Given the description of an element on the screen output the (x, y) to click on. 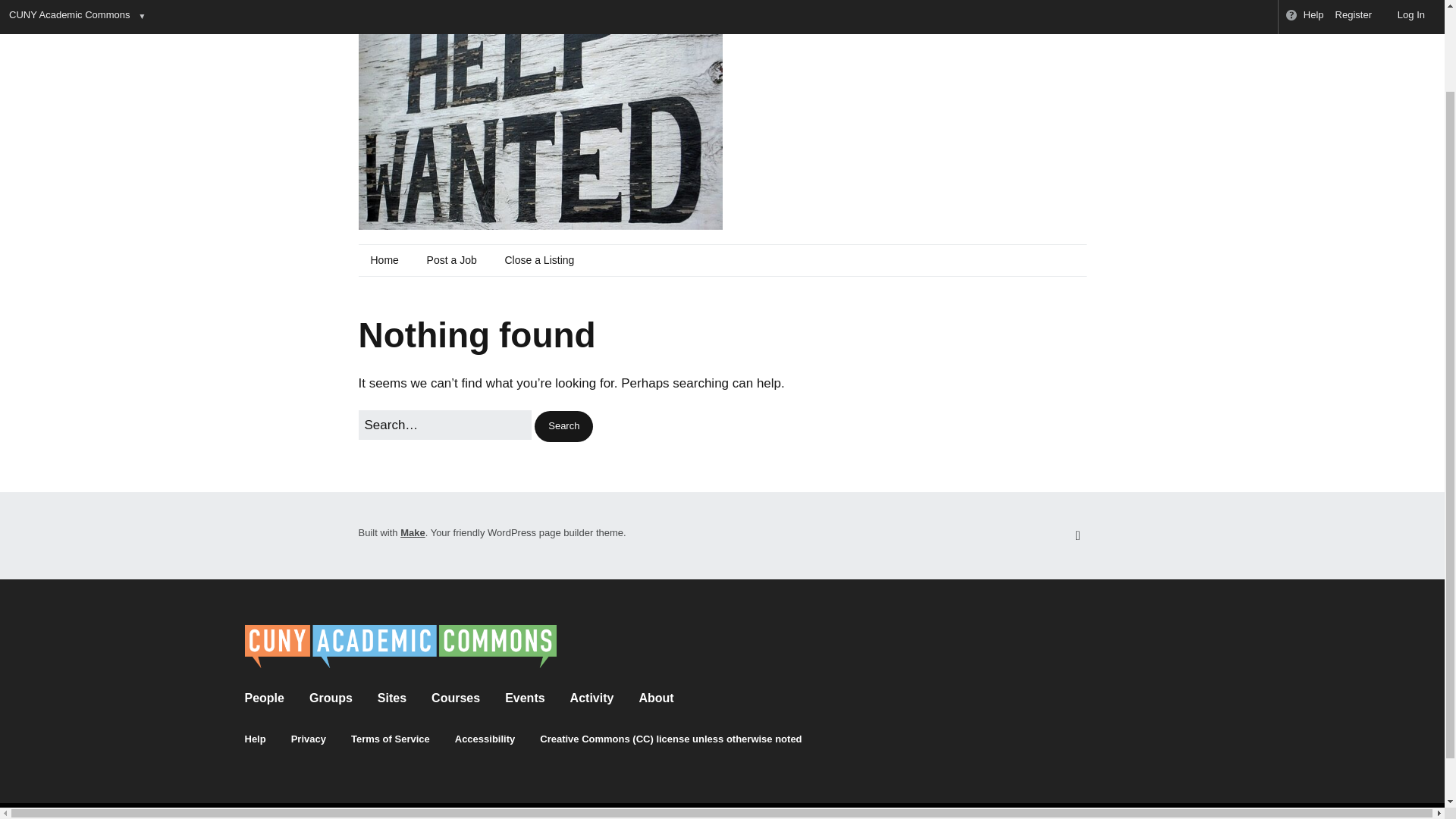
Privacy (308, 738)
Close a Listing (539, 260)
Sites (391, 697)
Accessibility (484, 738)
Press Enter to submit your search (444, 424)
Home (384, 260)
People (263, 697)
Help (254, 738)
Groups (330, 697)
Make (412, 532)
Courses (455, 697)
Events (524, 697)
Search (563, 426)
Search (563, 426)
Search (563, 426)
